Given the description of an element on the screen output the (x, y) to click on. 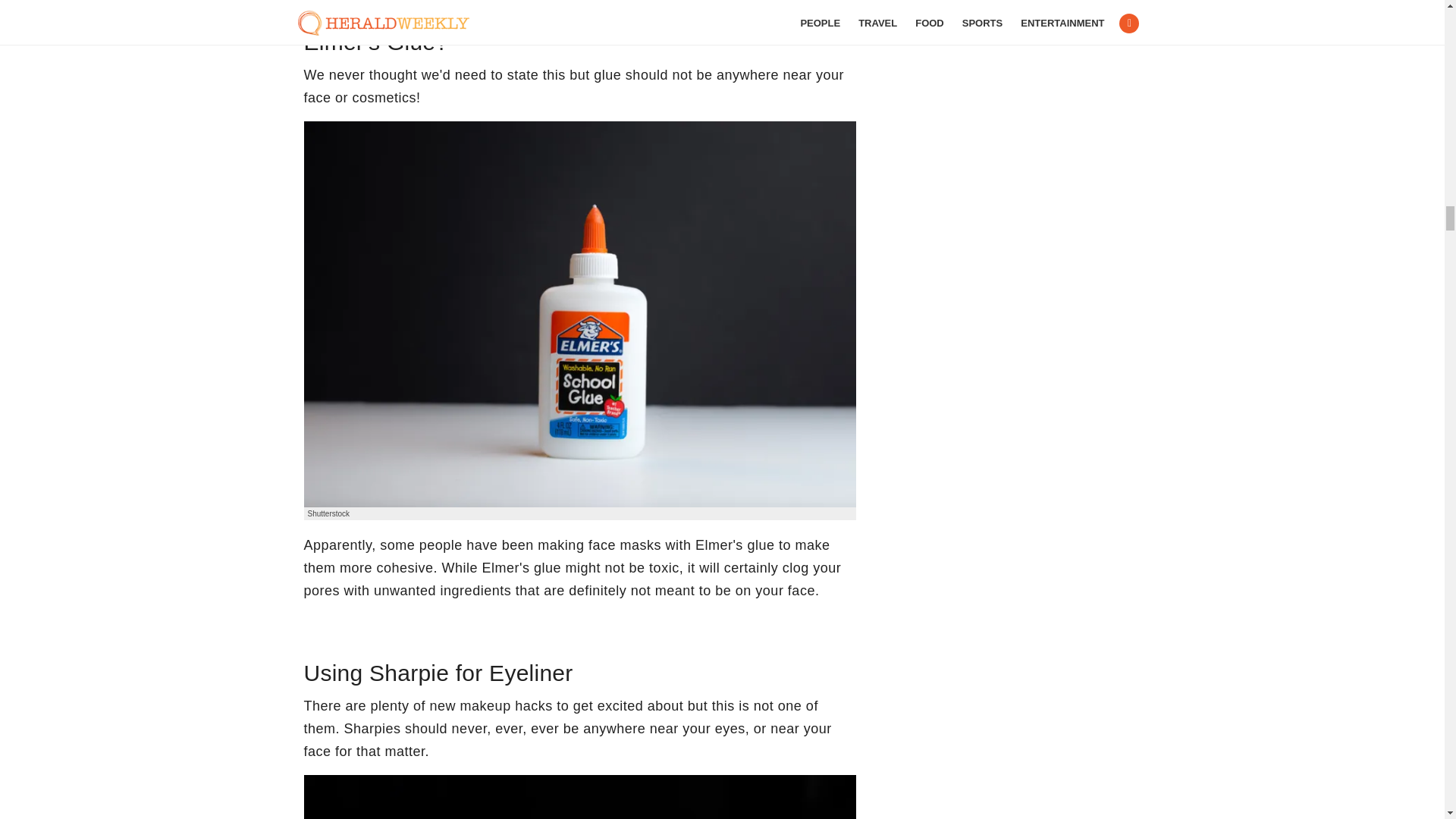
Using Sharpie for Eyeliner (579, 796)
